Given the description of an element on the screen output the (x, y) to click on. 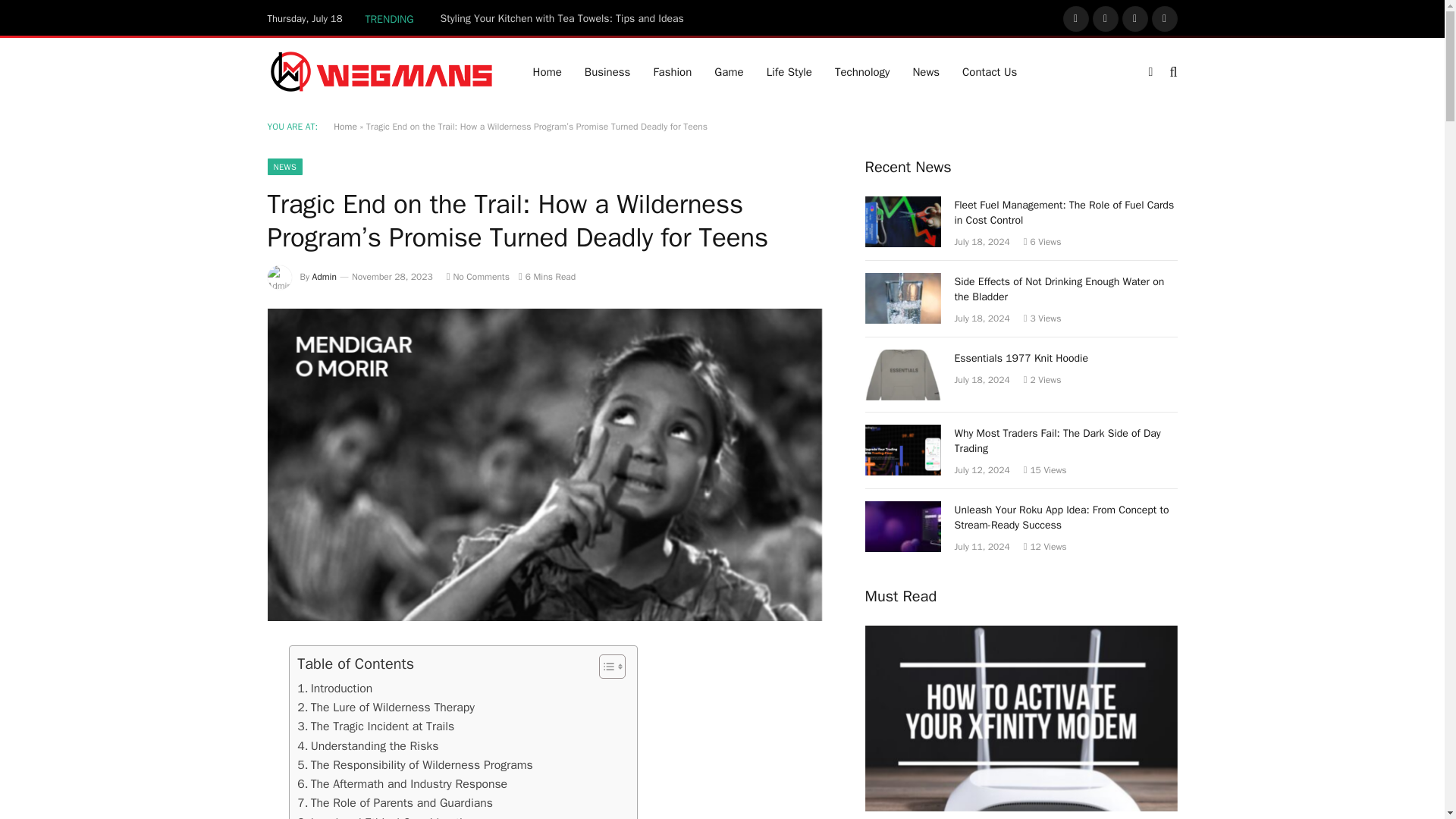
Instagram (1135, 18)
Business (607, 71)
Facebook (1075, 18)
Technology (862, 71)
No Comments (477, 276)
Posts by Admin (324, 276)
The Lure of Wilderness Therapy (385, 707)
wegmans.co.uk (380, 71)
Game (728, 71)
Admin (324, 276)
Search (1171, 71)
Pinterest (1163, 18)
Life Style (789, 71)
Fashion (672, 71)
News (925, 71)
